Given the description of an element on the screen output the (x, y) to click on. 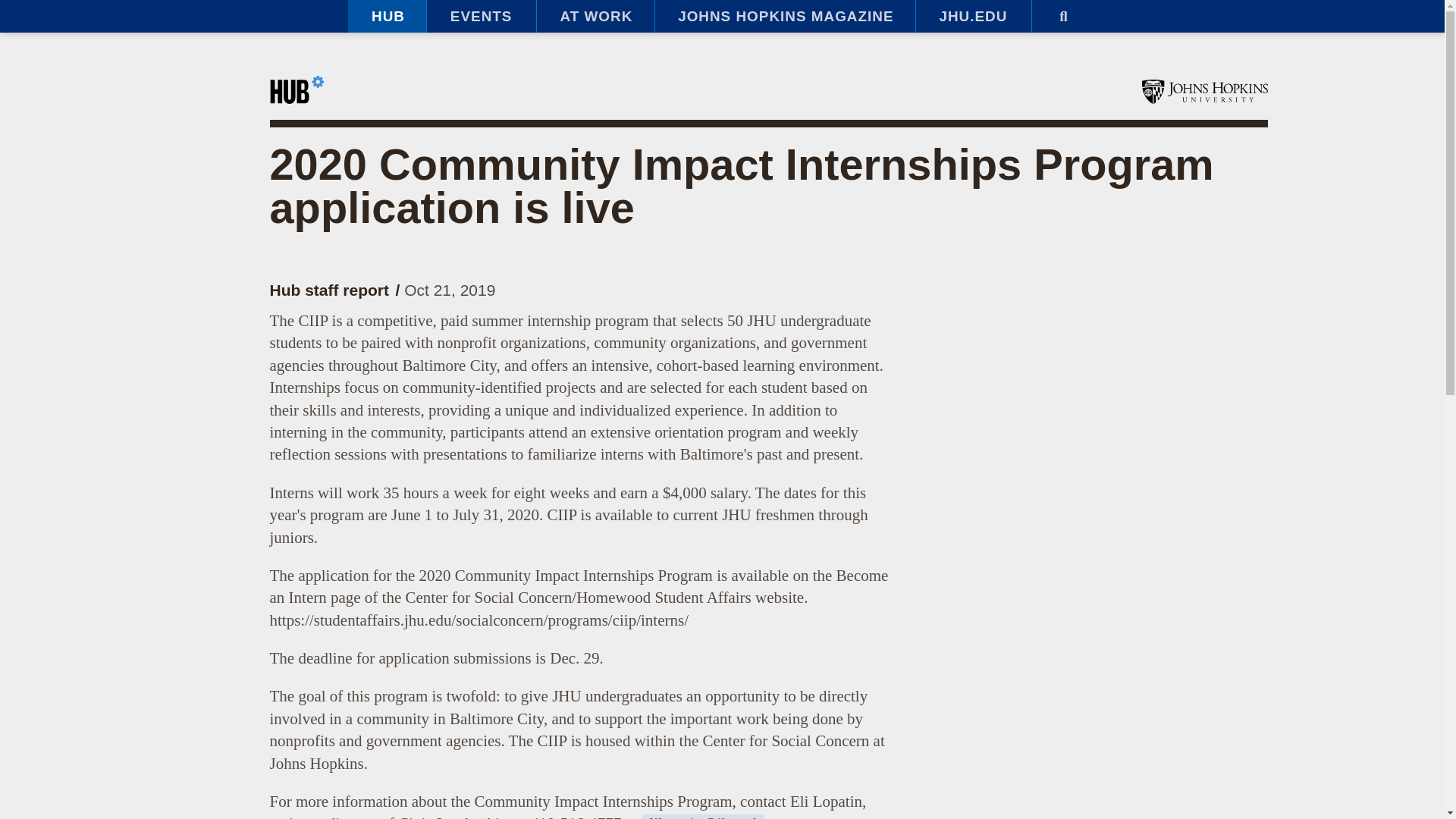
HUB (386, 16)
JOHNS HOPKINS MAGAZINE (784, 16)
Johns Hopkins University (1204, 91)
AT WORK (594, 16)
EVENTS (480, 16)
JHU.EDU (972, 16)
